Given the description of an element on the screen output the (x, y) to click on. 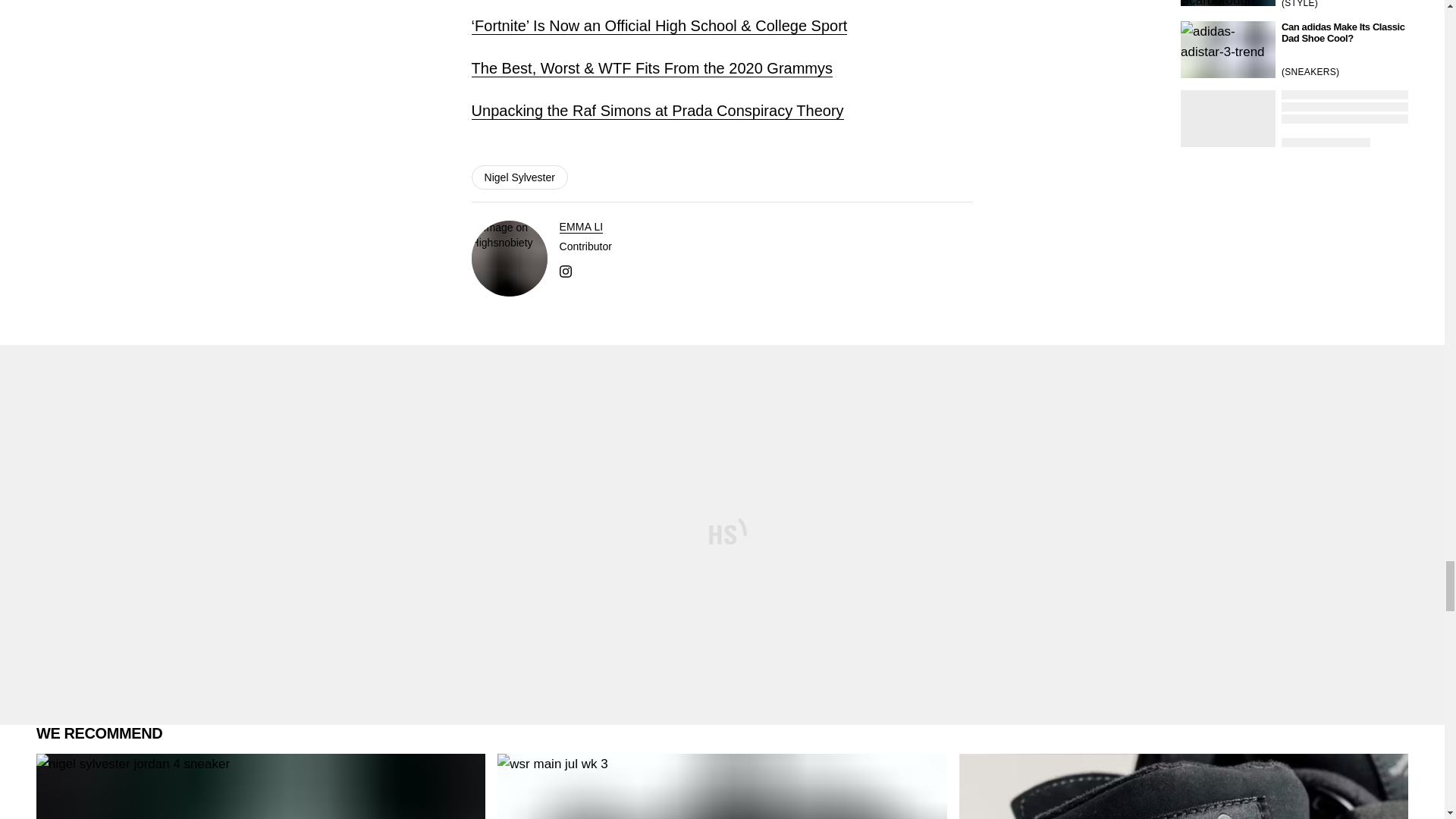
Follow author Emma Li on instagram (565, 270)
